Given the description of an element on the screen output the (x, y) to click on. 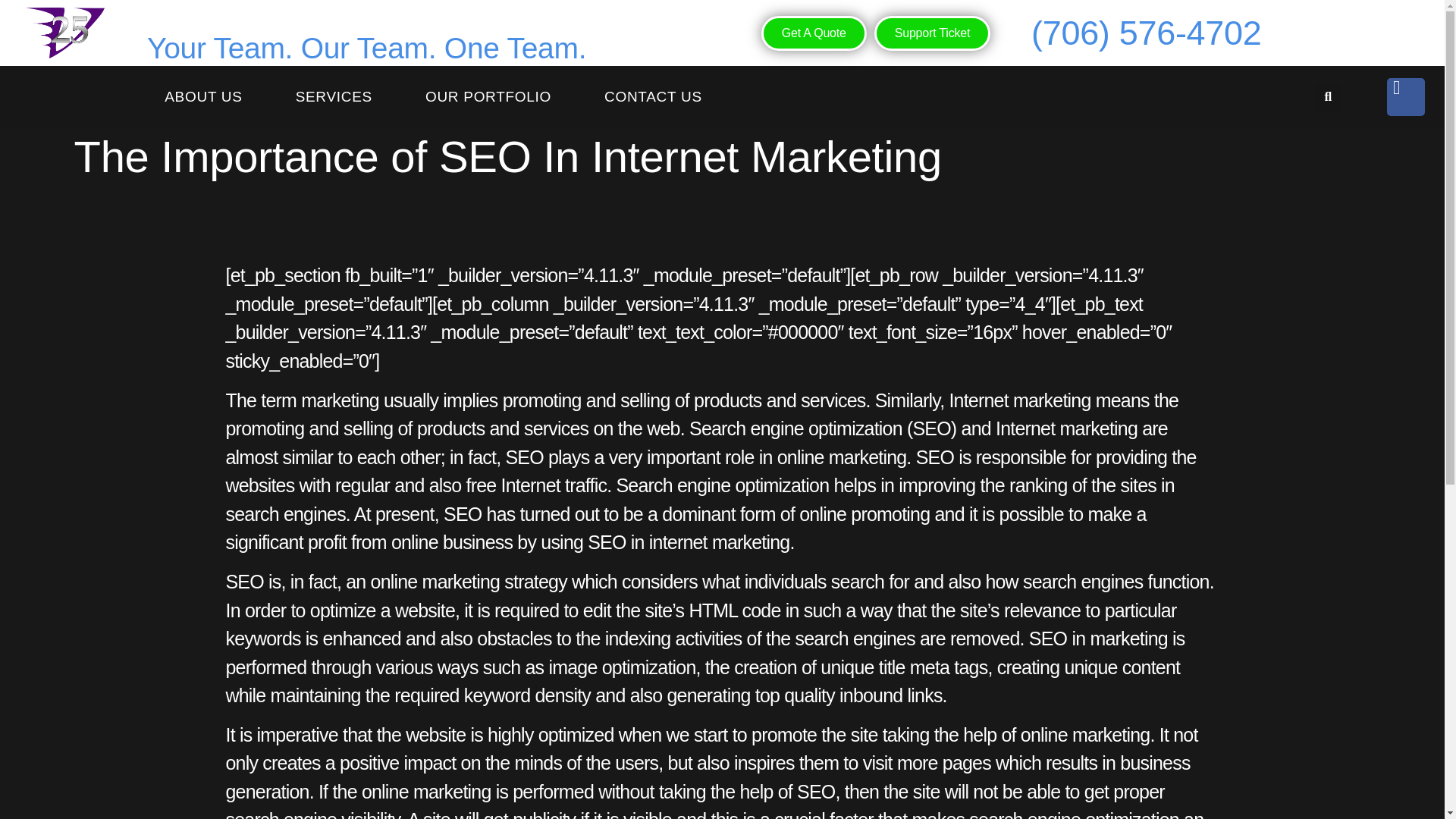
CONTACT US (652, 96)
Support Ticket (932, 32)
SERVICES (333, 96)
Get A Quote (813, 32)
OUR PORTFOLIO (488, 96)
ABOUT US (202, 96)
